Given the description of an element on the screen output the (x, y) to click on. 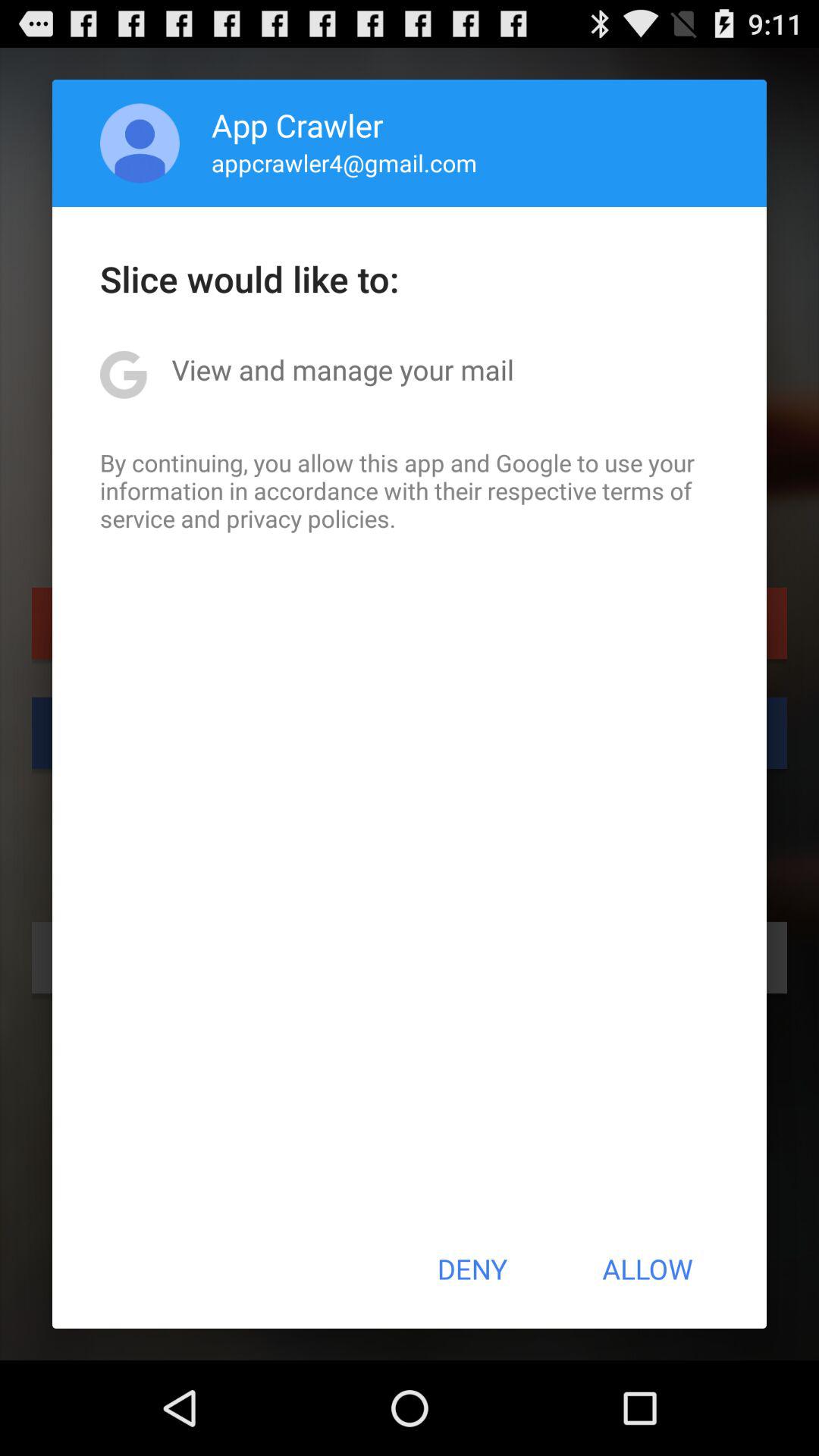
choose the icon below by continuing you (471, 1268)
